Given the description of an element on the screen output the (x, y) to click on. 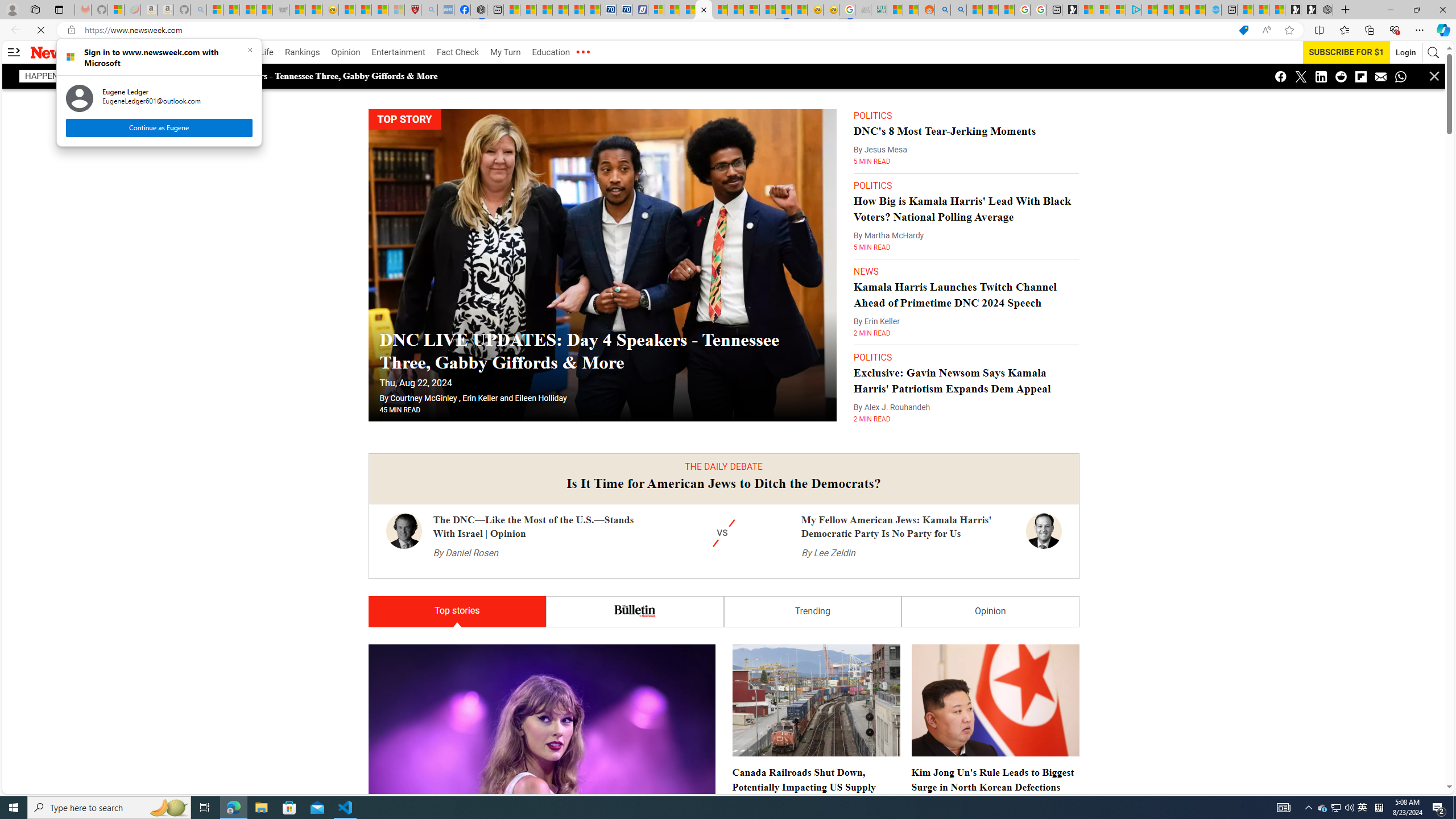
By Jesus Mesa (880, 126)
Type here to search (108, 807)
By Courtney McGinley (418, 375)
Play Free Online Games | Games from Microsoft Start (1308, 9)
DNC's 8 Most Tear-Jerking Moments (944, 107)
DITOGAMES AG Imprint (878, 9)
Visual Studio Code - 1 running window (345, 807)
Subscribe to our service (1339, 52)
